Given the description of an element on the screen output the (x, y) to click on. 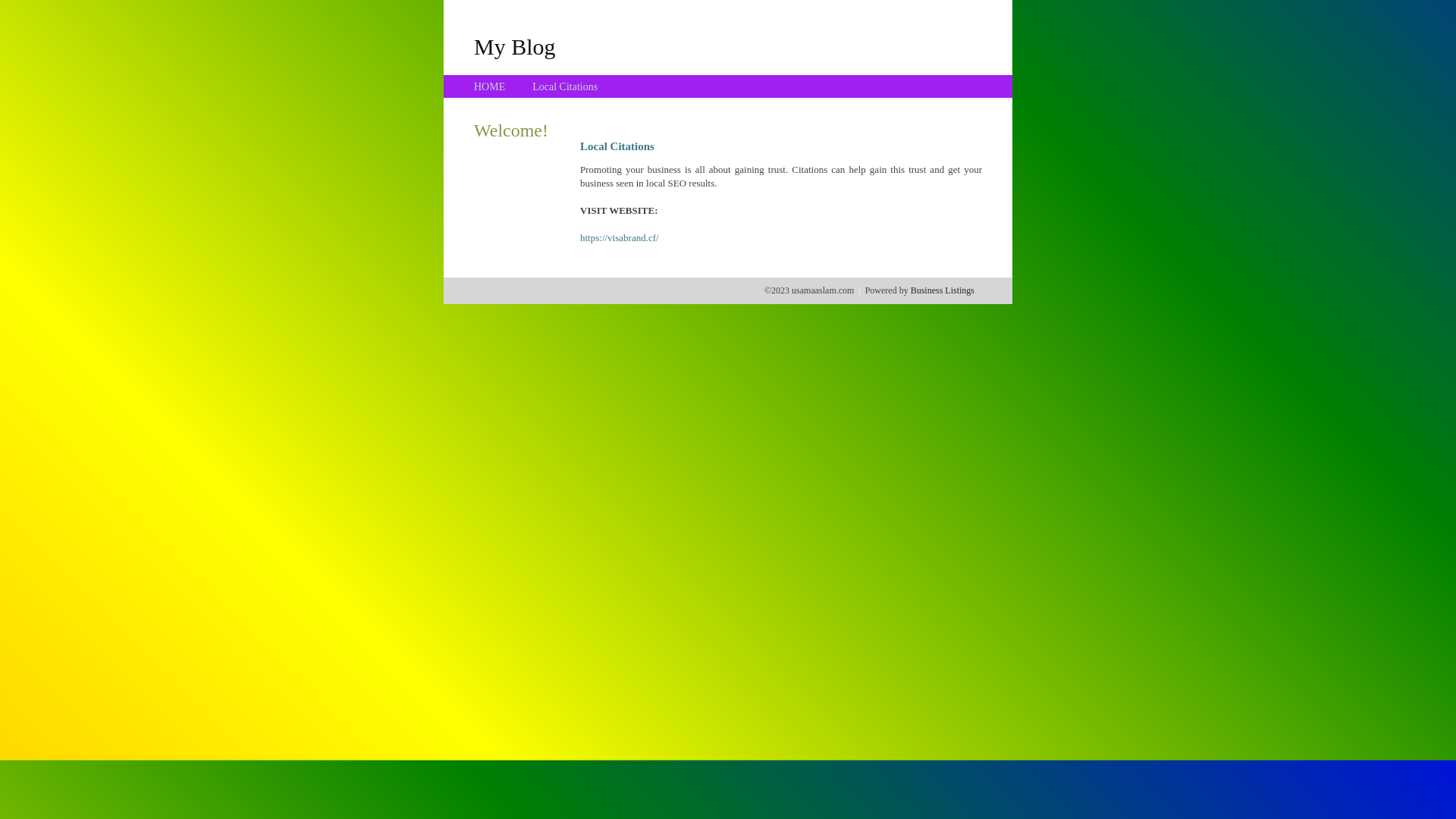
Business Listings Element type: text (942, 290)
HOME Element type: text (489, 86)
My Blog Element type: text (514, 46)
https://visabrand.cf/ Element type: text (619, 237)
Local Citations Element type: text (564, 86)
